Given the description of an element on the screen output the (x, y) to click on. 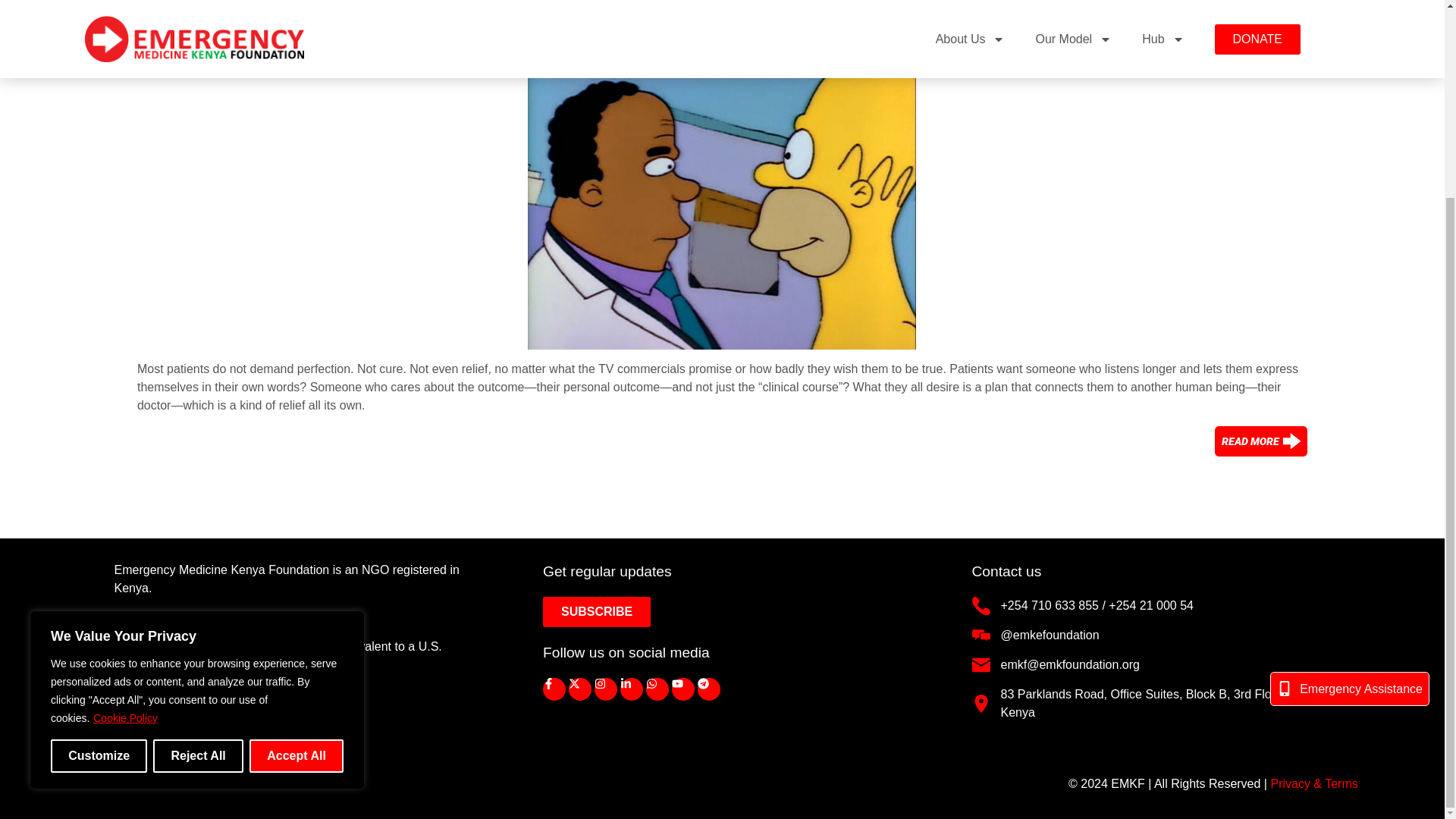
Cookie Policy (125, 468)
Accept All (295, 505)
Customize (98, 505)
Reject All (197, 505)
